Given the description of an element on the screen output the (x, y) to click on. 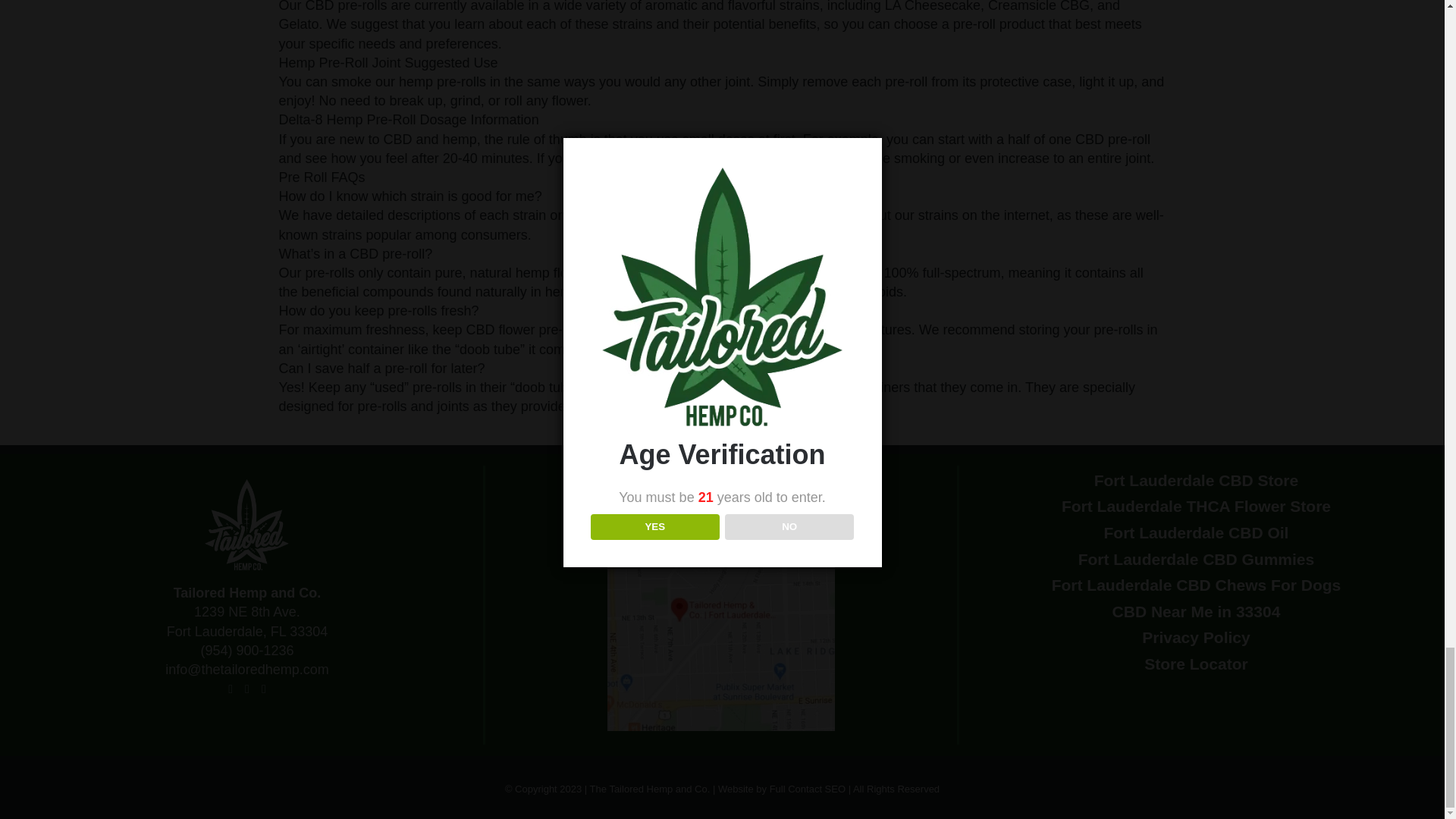
Twitter (264, 689)
Facebook (230, 689)
Instagram (246, 689)
